Given the description of an element on the screen output the (x, y) to click on. 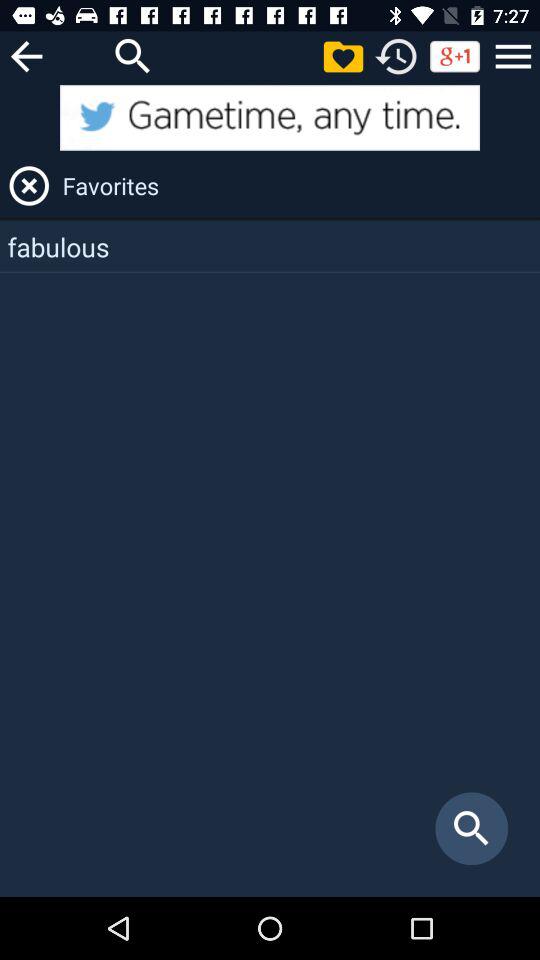
open menu (513, 56)
